Given the description of an element on the screen output the (x, y) to click on. 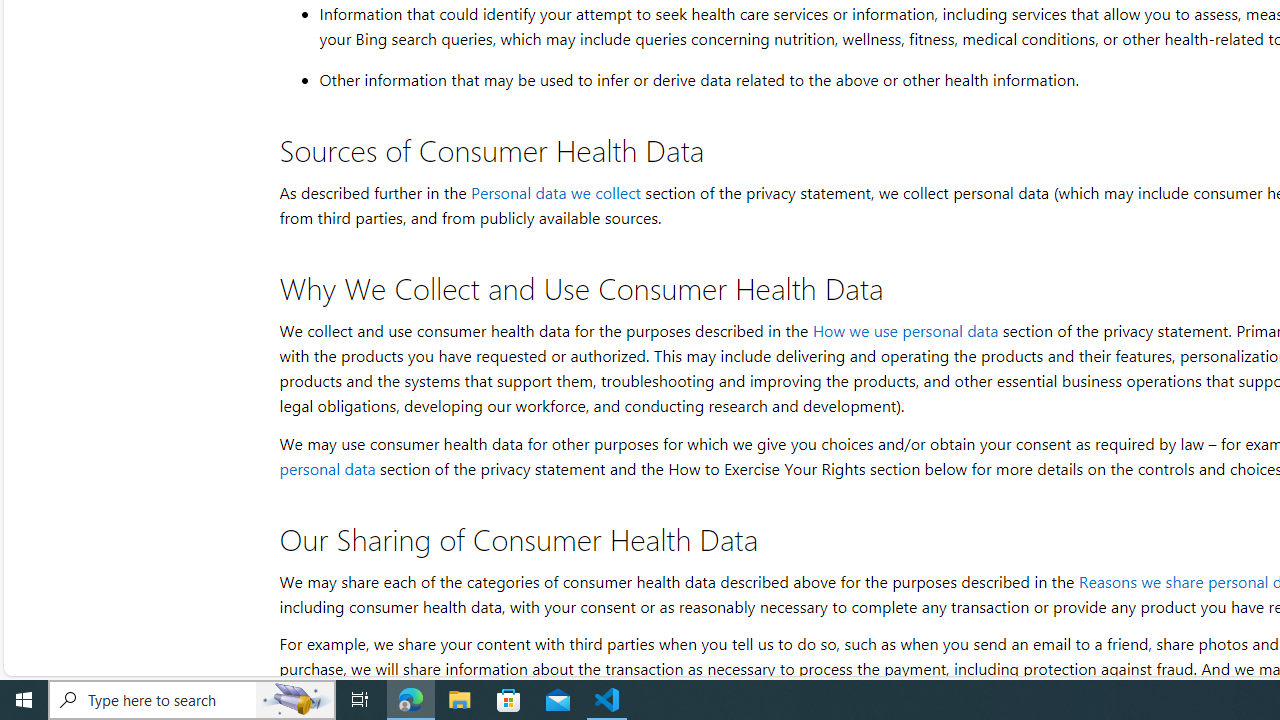
Personal data we collect (555, 192)
How we use personal data (904, 330)
